Given the description of an element on the screen output the (x, y) to click on. 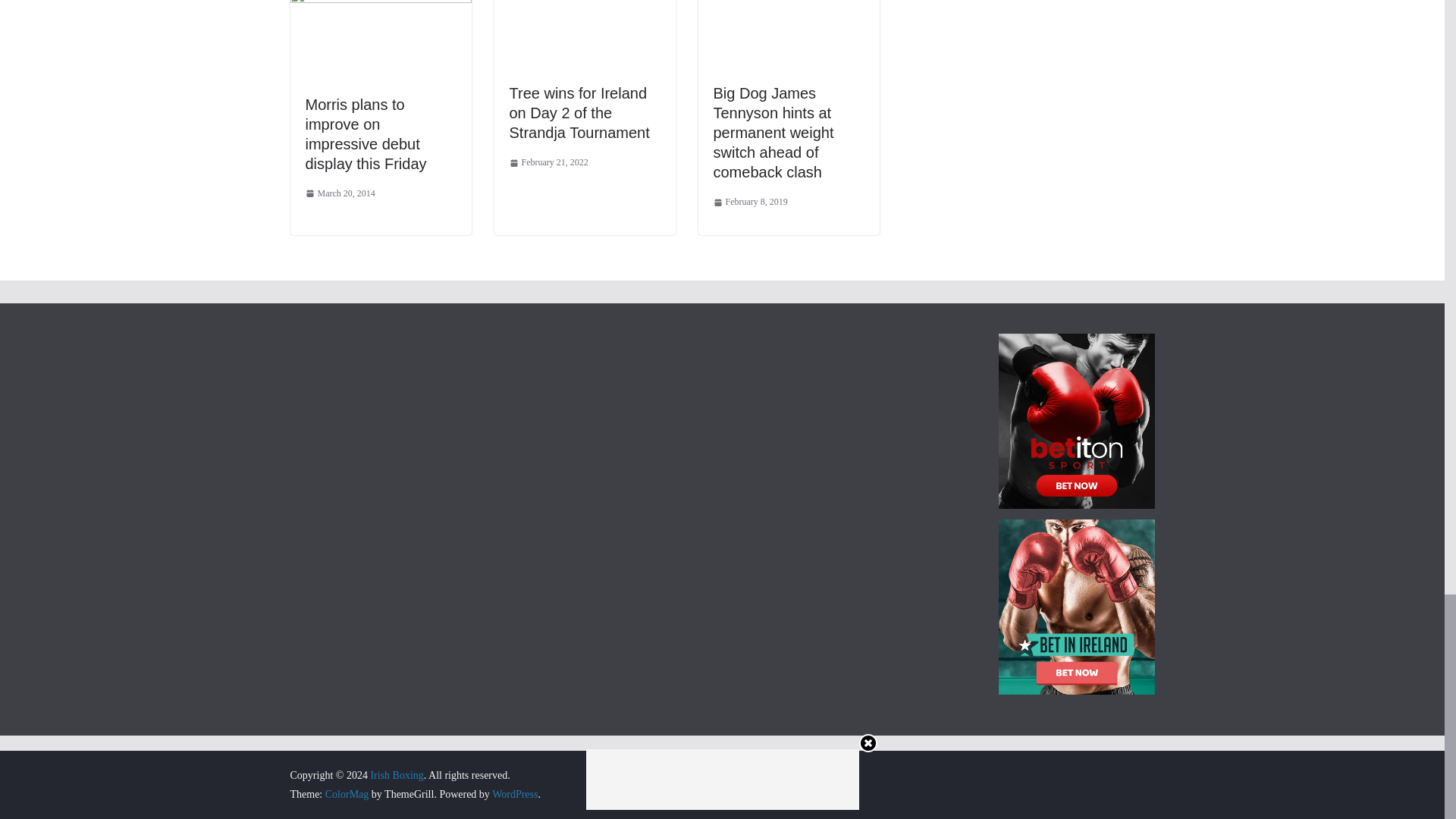
March 20, 2014 (339, 193)
10:48 pm (339, 193)
February 21, 2022 (548, 162)
Tree wins for Ireland on Day 2 of the Strandja Tournament (579, 112)
11:05 pm (548, 162)
Tree wins for Ireland on Day 2 of the Strandja Tournament (579, 112)
February 8, 2019 (750, 202)
4:16 pm (750, 202)
